Given the description of an element on the screen output the (x, y) to click on. 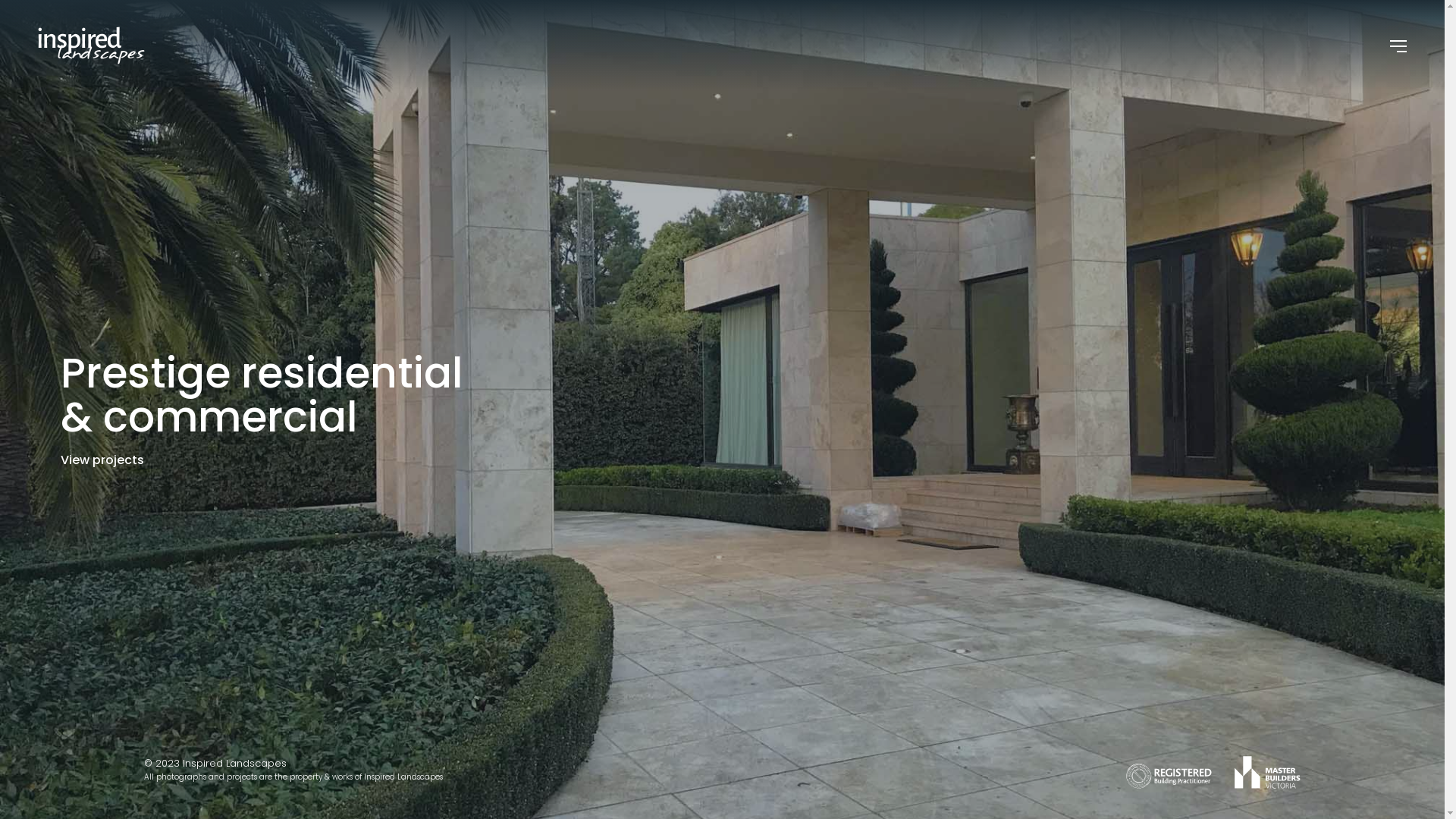
View projects Element type: text (102, 460)
